Given the description of an element on the screen output the (x, y) to click on. 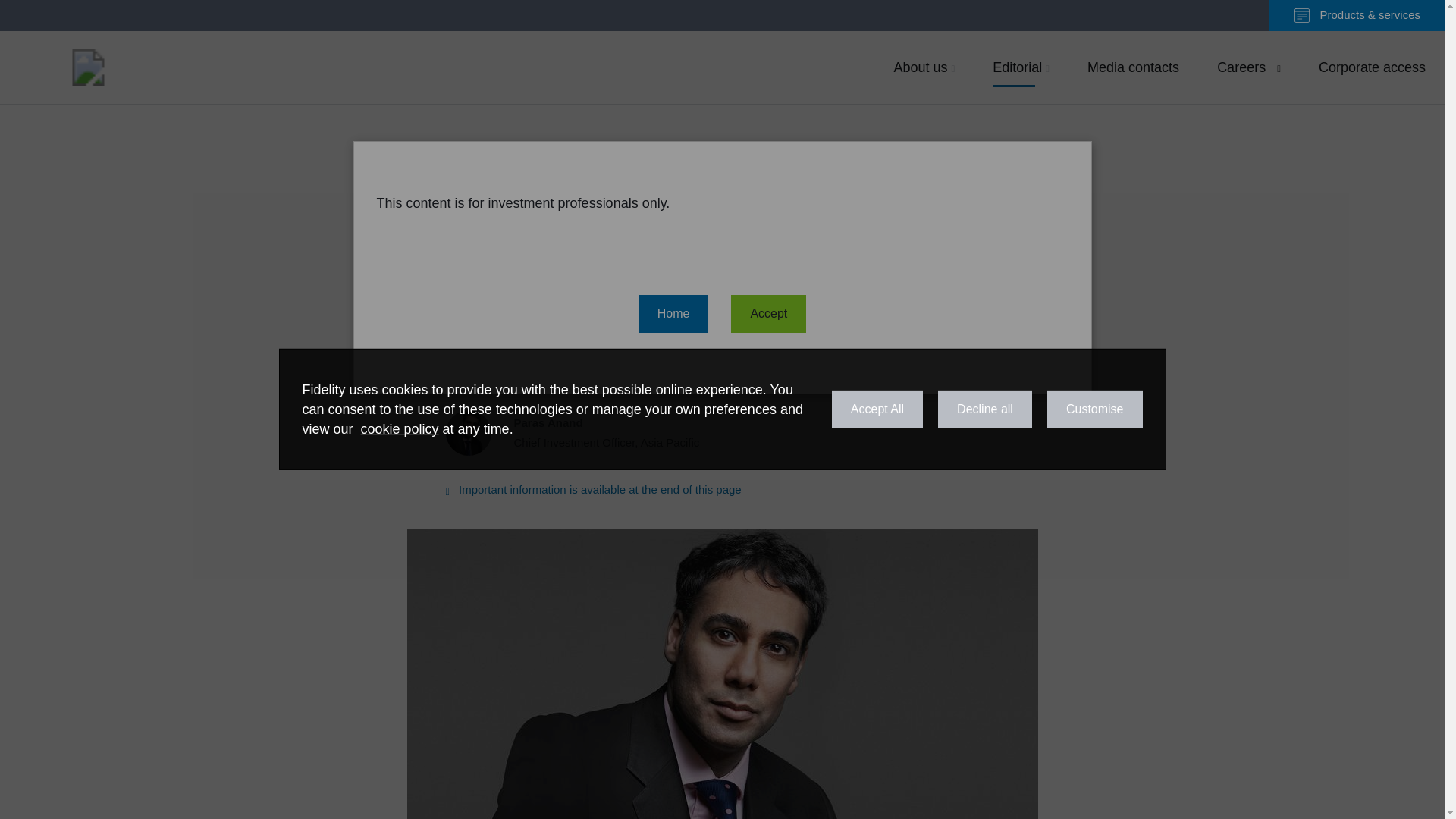
Fidelity International Logo (88, 67)
About us (924, 66)
Media contacts (1133, 66)
Editorial (581, 432)
Careers (1021, 66)
Fidelity International Logo (1248, 66)
Paras Anand (88, 67)
disclaimer (581, 432)
Corporate access (593, 489)
